Given the description of an element on the screen output the (x, y) to click on. 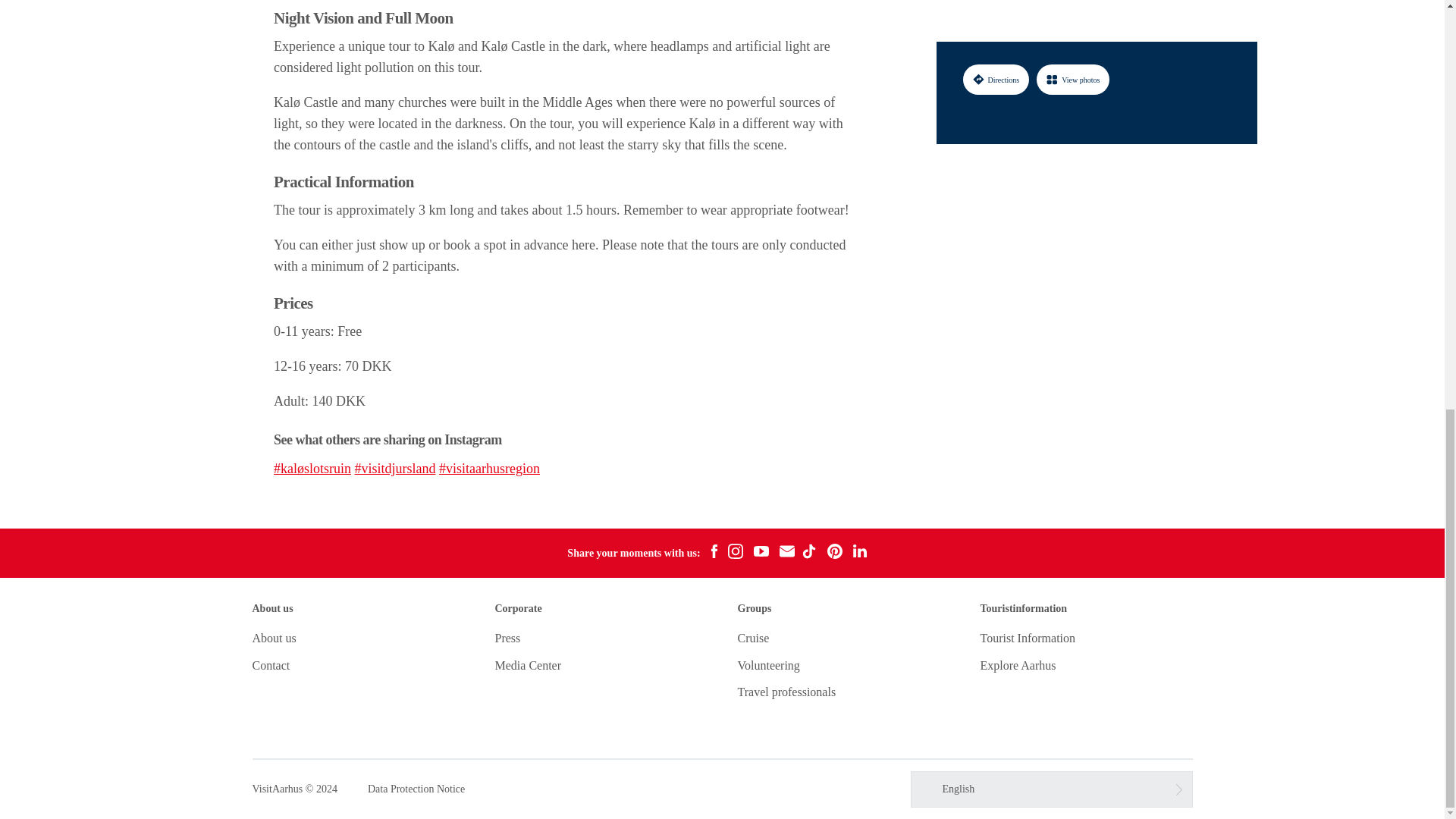
About us (273, 637)
facebook (714, 553)
Contact (270, 665)
Cruise (752, 637)
Explore Aarhus (1017, 665)
About us (273, 637)
Contact (270, 665)
pinterest (834, 553)
Travel professionals (785, 691)
tiktok (810, 553)
